Given the description of an element on the screen output the (x, y) to click on. 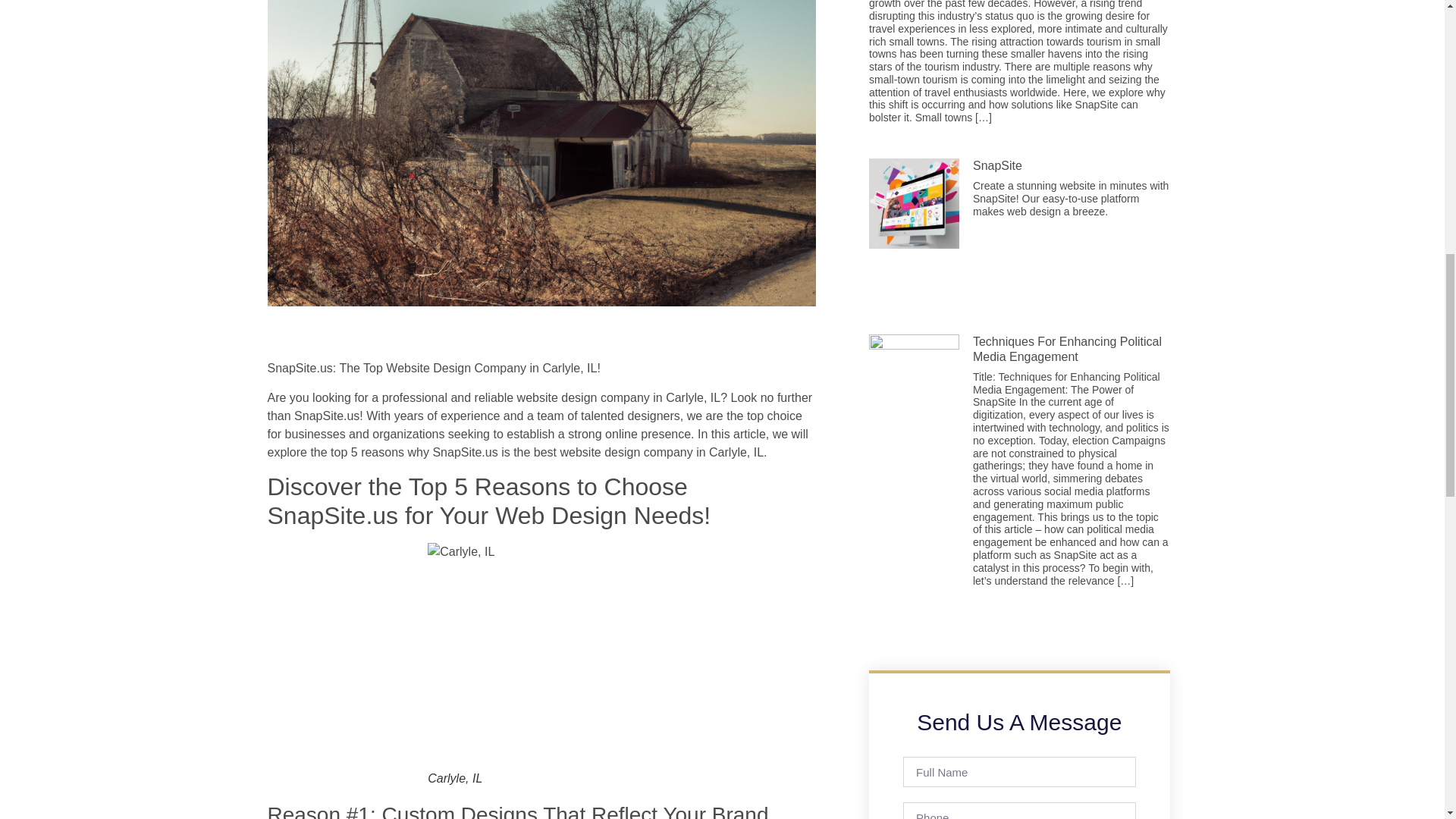
Techniques For Enhancing Political Media Engagement (1066, 348)
SnapSite (997, 164)
